Given the description of an element on the screen output the (x, y) to click on. 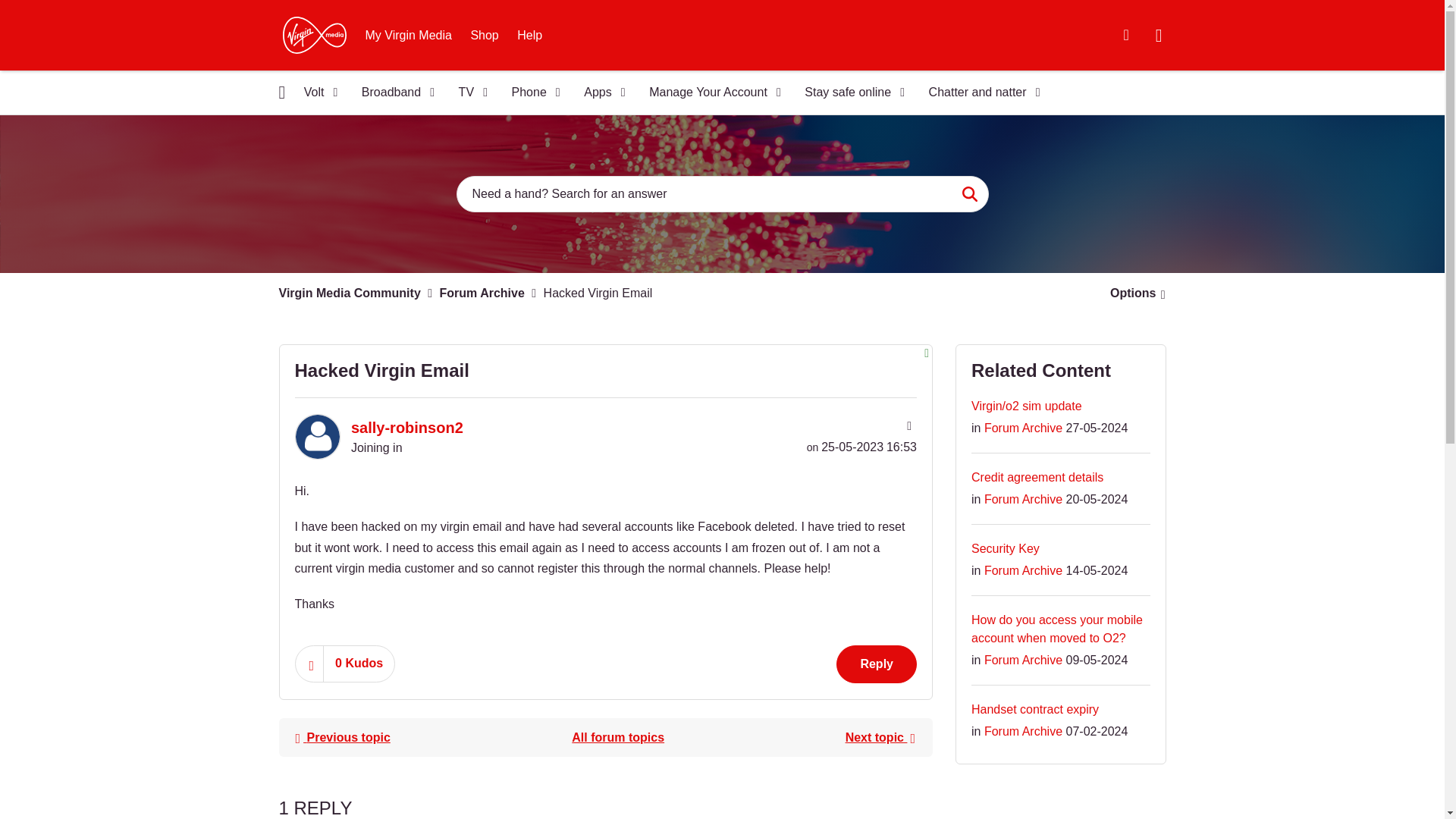
TV (468, 92)
Help (529, 34)
The total number of kudos this post has received. (358, 663)
Stay safe online (849, 92)
Show option menu (1133, 293)
Shop (484, 34)
Phone (531, 92)
Manage Your Account (709, 92)
Search (969, 193)
Search (969, 193)
Locked out of e mail account (341, 736)
Search (722, 194)
Apps (599, 92)
My Virgin Media (409, 34)
Forum Archive (618, 736)
